Given the description of an element on the screen output the (x, y) to click on. 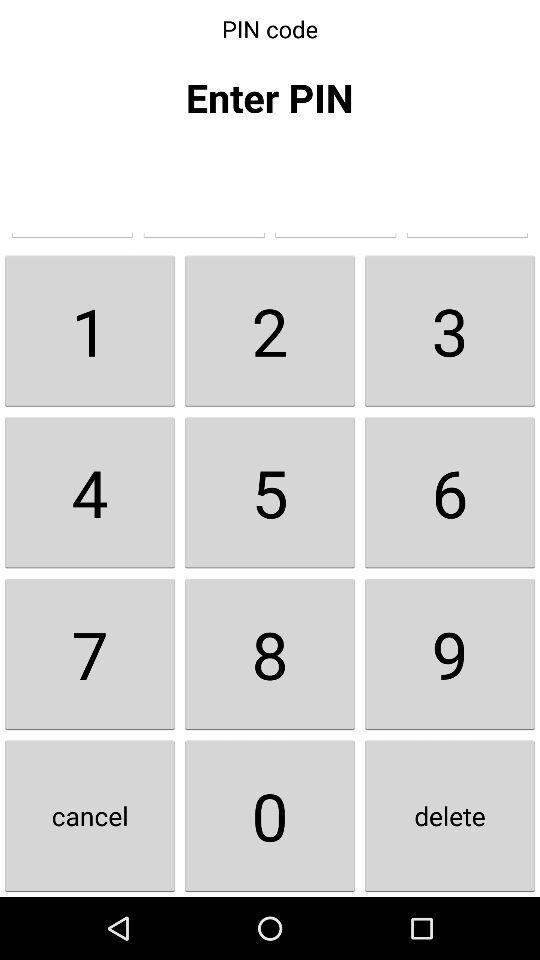
press icon above 7 button (90, 492)
